Given the description of an element on the screen output the (x, y) to click on. 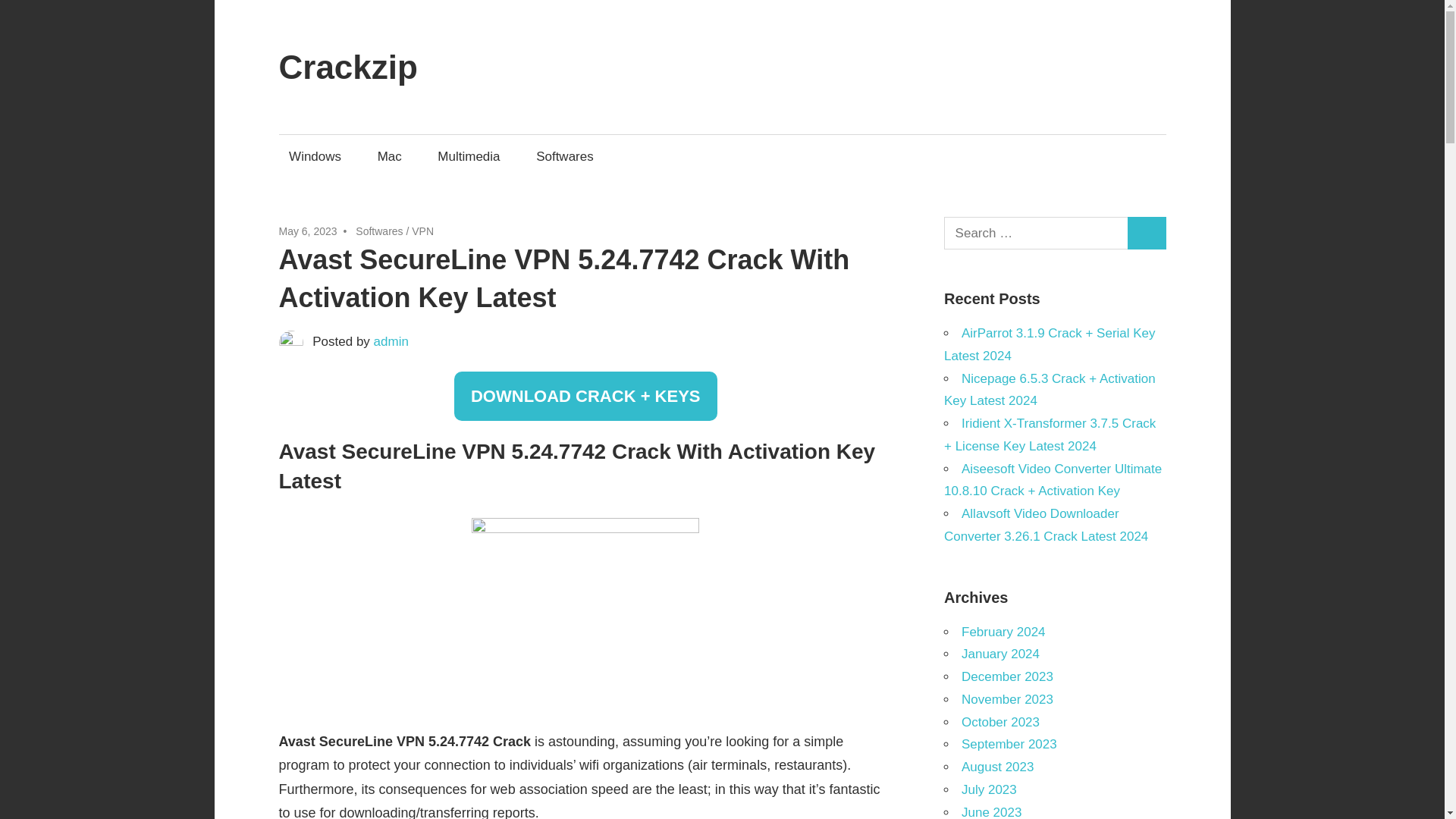
View all posts by admin (391, 341)
November 2023 (1006, 699)
July 2023 (988, 789)
October 2023 (999, 721)
VPN (422, 231)
Softwares (379, 231)
Mac (389, 156)
Windows (315, 156)
February 2024 (1002, 631)
May 6, 2023 (308, 231)
December 2023 (1006, 676)
admin (391, 341)
September 2023 (1008, 744)
Search for: (1035, 233)
